Given the description of an element on the screen output the (x, y) to click on. 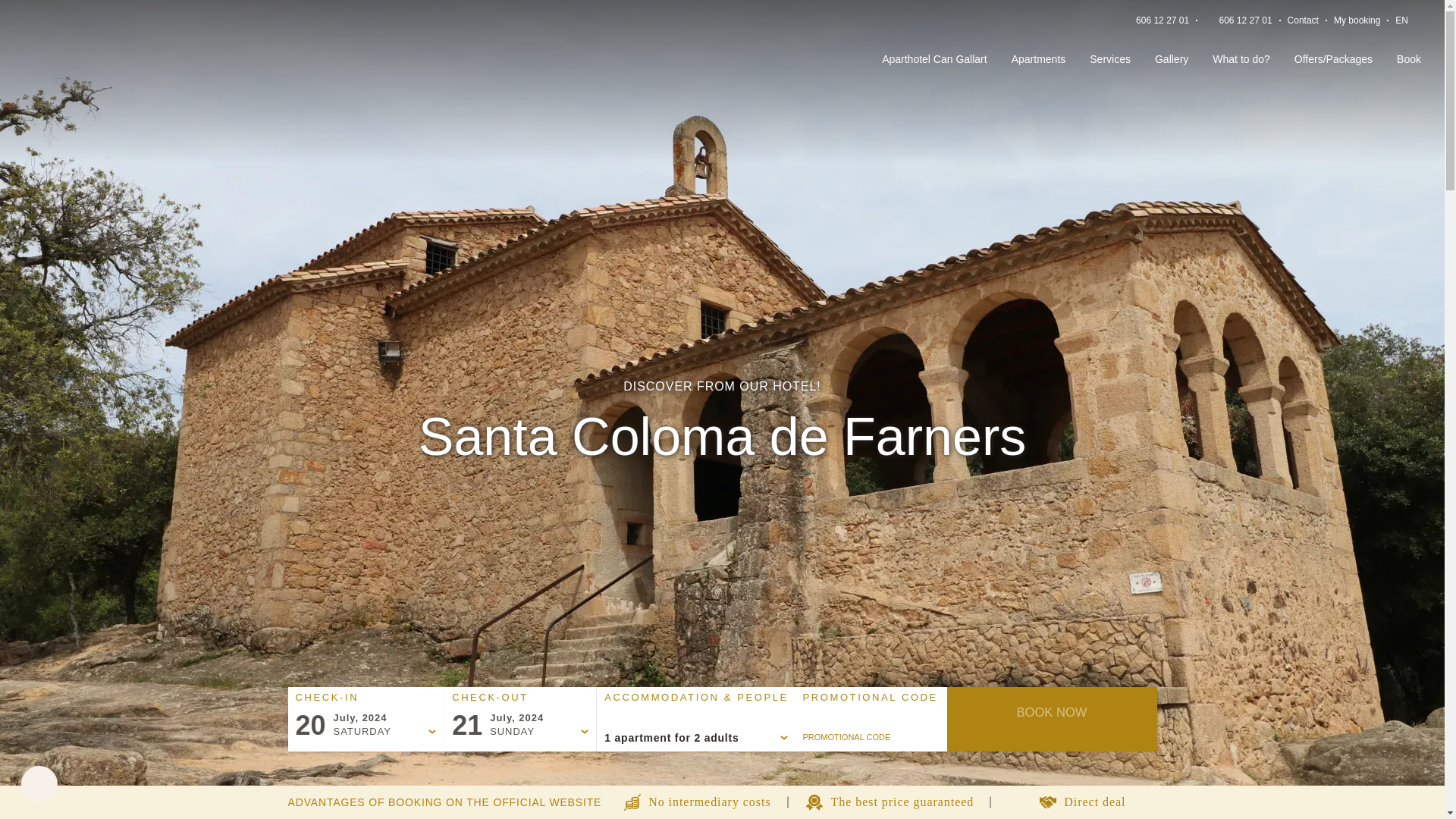
My booking (1356, 20)
BOOK NOW (1051, 711)
Services (1110, 59)
Contact (1303, 20)
Apartments (1038, 59)
Aparthotel Can Gallart (934, 59)
What to do? (1240, 59)
Book (1408, 59)
606 12 27 01 (1162, 20)
Gallery (1171, 59)
606 12 27 01 (1246, 20)
